Given the description of an element on the screen output the (x, y) to click on. 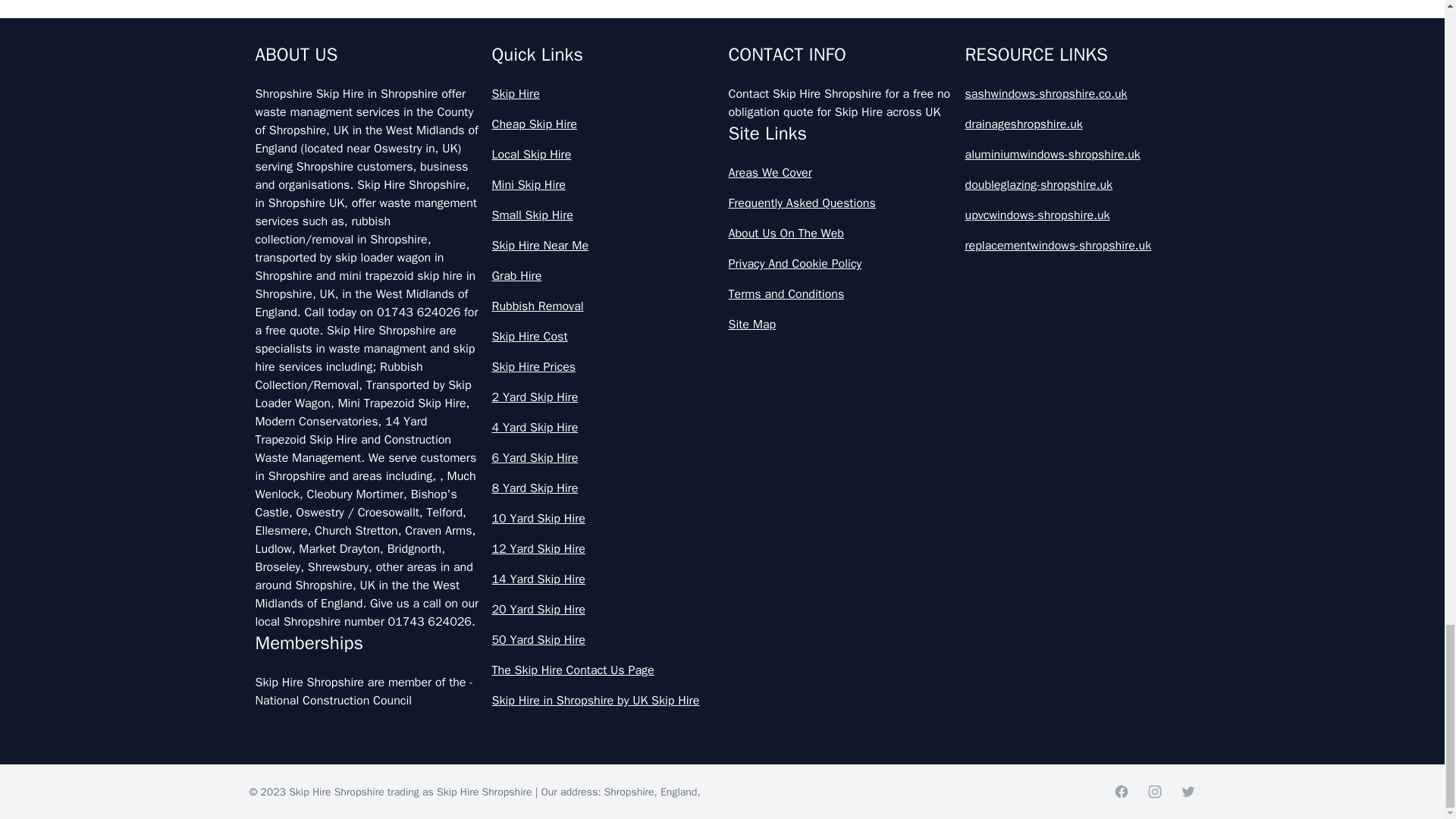
Can You Hire Skips In Shropshire (722, 303)
Does Skip Hire Include Disposal In Shropshire (722, 636)
Skip Hire in Shropshire by UK Skip Hire (604, 700)
Do I Need A Permit To Hire A Skip In Shropshire (722, 436)
Can You Hire A Skip For An Hour In Shropshire (722, 36)
How Do I Hire A Skip In Shropshire (722, 770)
Can You Put Anything In A Hired Skip In Shropshire (722, 369)
doubleglazing-shropshire.uk (1076, 185)
aluminiumwindows-shropshire.uk (1076, 154)
drainageshropshire.uk (1076, 124)
Can You Hire A Skip In Shropshire (722, 236)
sashwindows-shropshire.co.uk (1076, 94)
replacementwindows-shropshire.uk (1076, 245)
Can You Hire A Skip For Garden Waste In Shropshire (722, 102)
Can You Hire A Skip For One Day In Shropshire (722, 169)
